Given the description of an element on the screen output the (x, y) to click on. 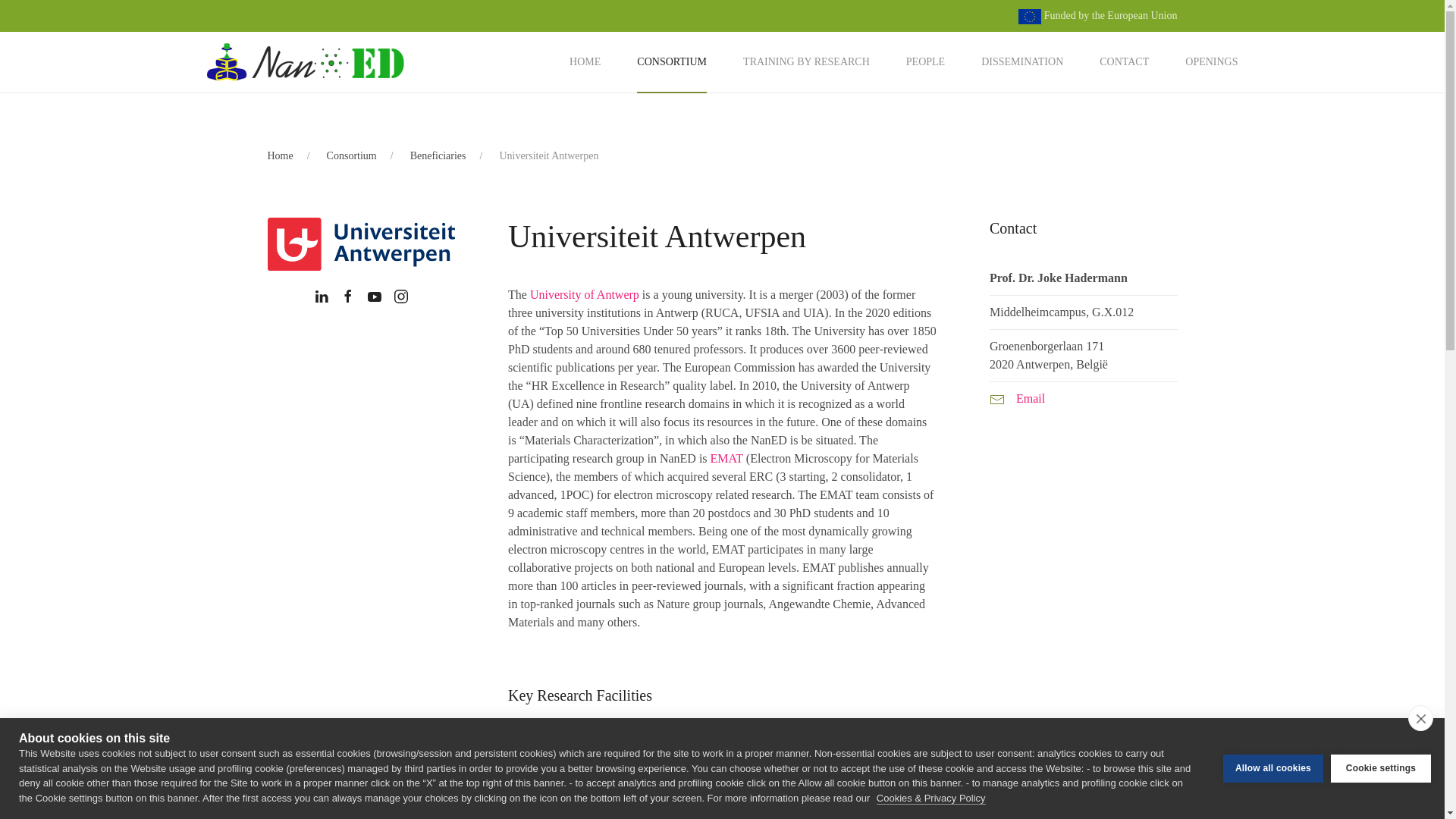
DISSEMINATION (1021, 61)
TRAINING BY RESEARCH (805, 61)
CONSORTIUM (671, 61)
